Given the description of an element on the screen output the (x, y) to click on. 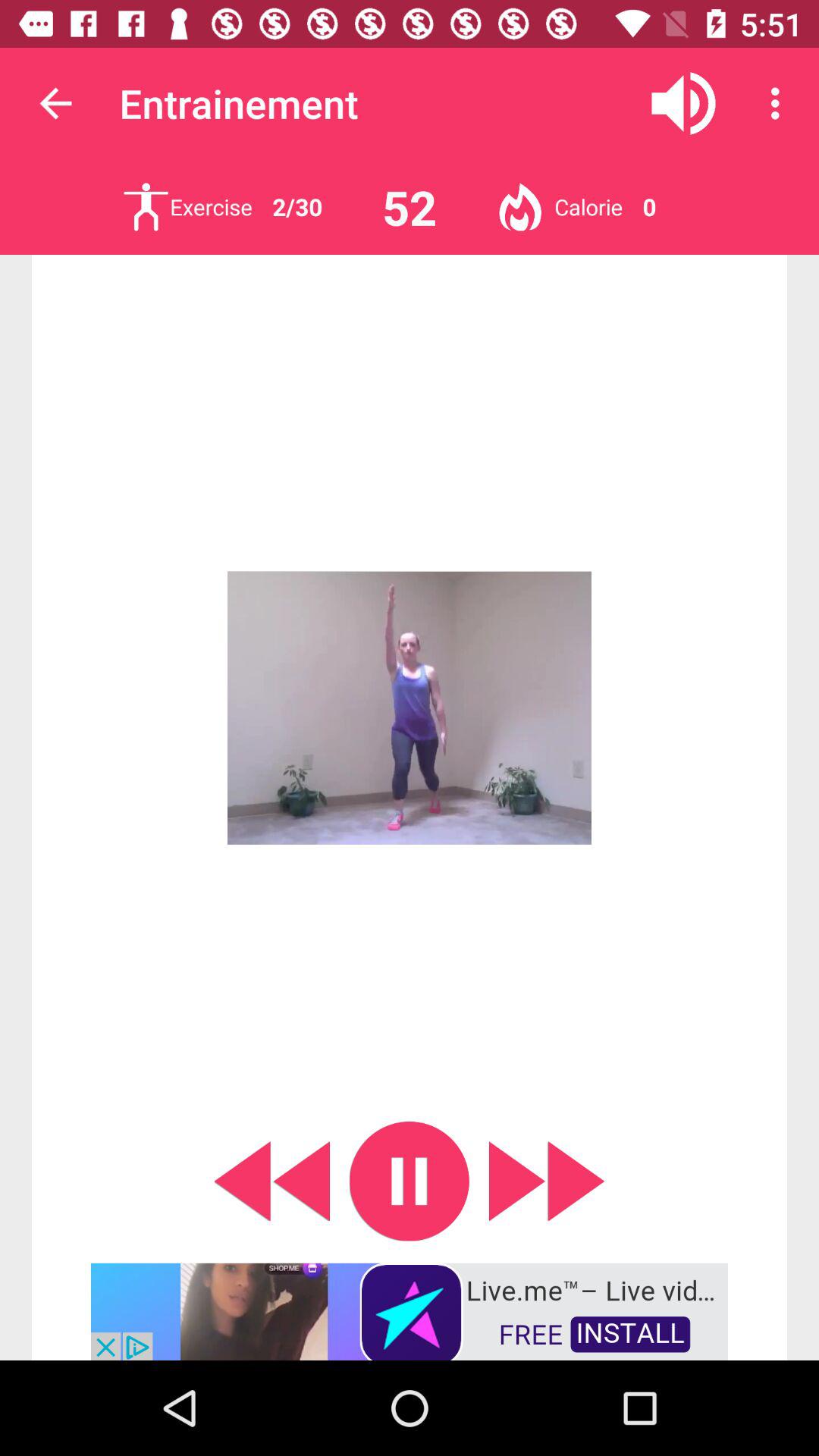
view exercise list (146, 206)
